Given the description of an element on the screen output the (x, y) to click on. 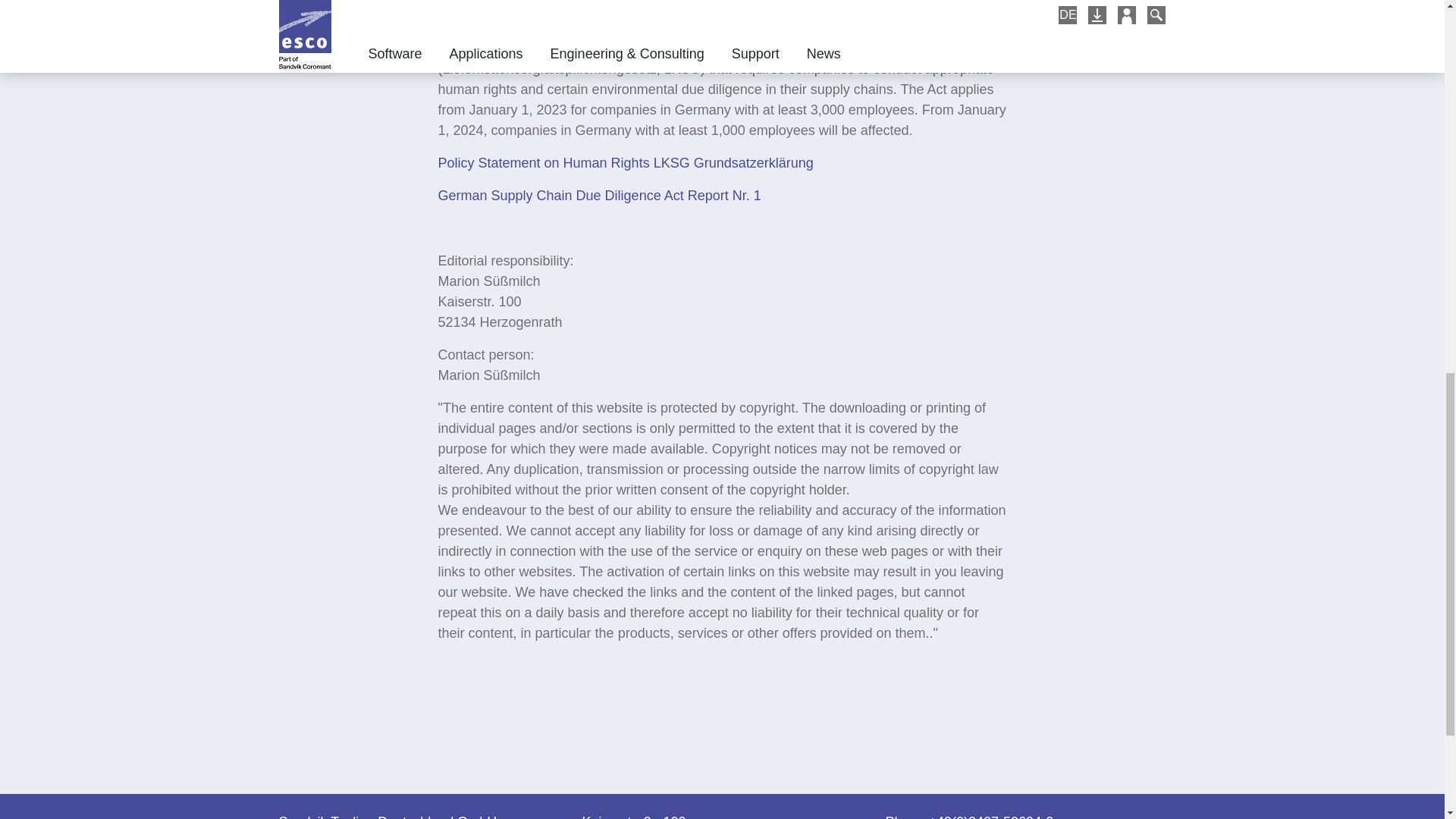
German Supply Chain Due Diligence Act Report Nr. 1 (599, 195)
